Given the description of an element on the screen output the (x, y) to click on. 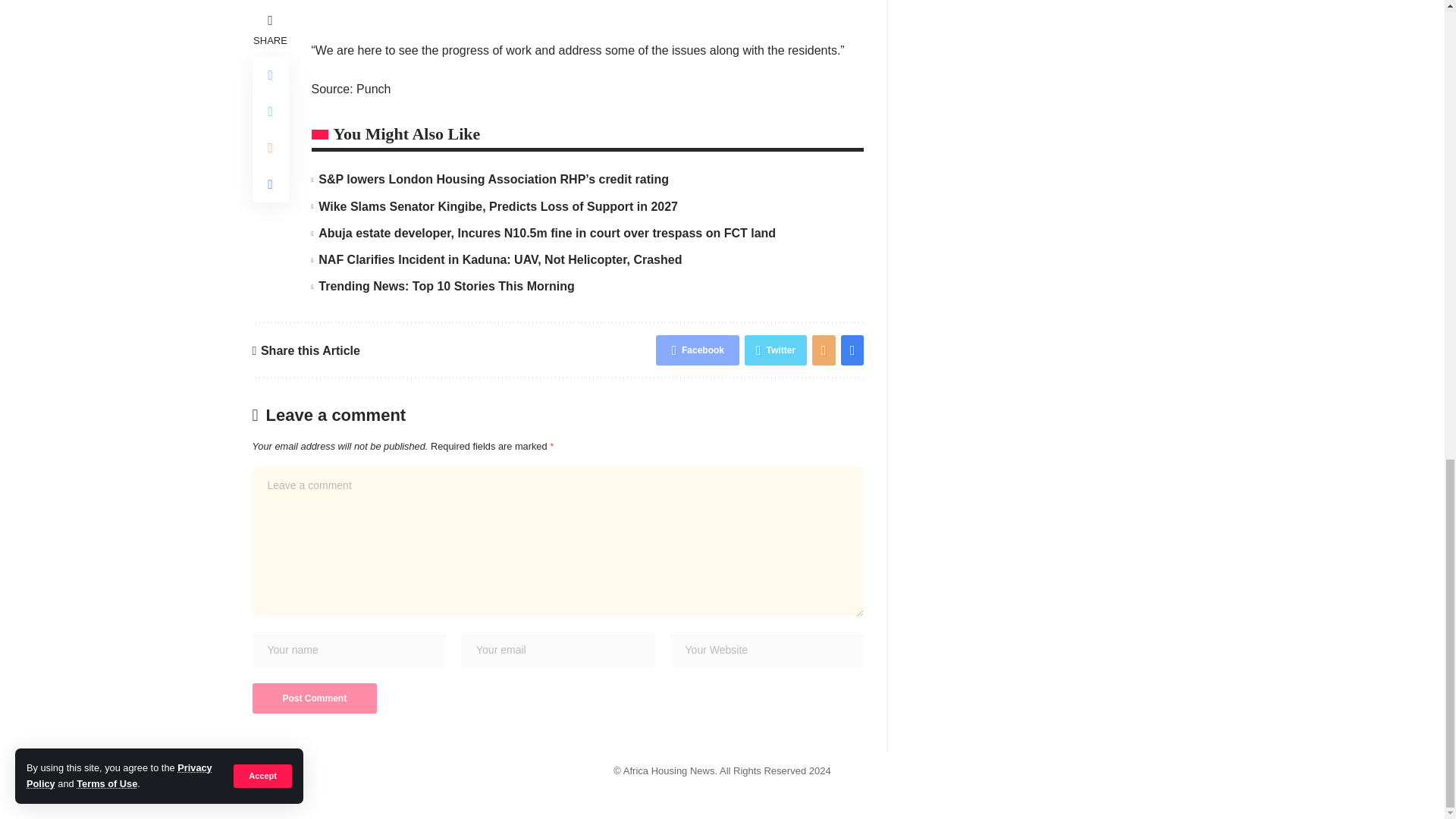
Post Comment (314, 698)
